Given the description of an element on the screen output the (x, y) to click on. 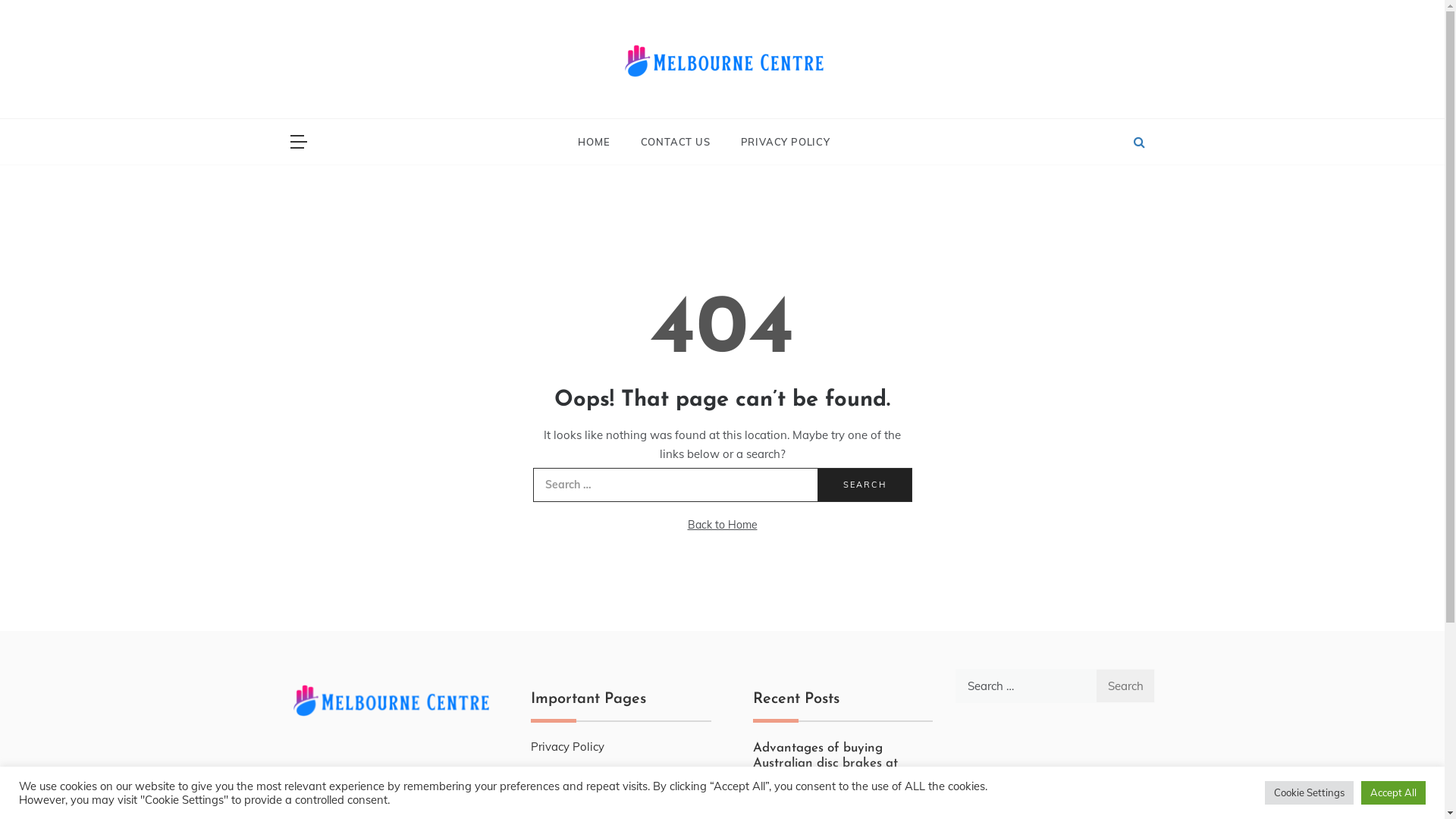
Accept All Element type: text (1393, 792)
Search Element type: text (864, 484)
PRIVACY POLICY Element type: text (776, 141)
Search Element type: text (1124, 685)
September 30, 2022 Element type: text (801, 795)
Back to Home Element type: text (721, 524)
Advantages of buying Australian disc brakes at VMAX Brakes Element type: text (824, 763)
Melbourne Centre Element type: text (608, 103)
Cookie Settings Element type: text (1308, 792)
Privacy Policy Element type: text (567, 746)
HOME Element type: text (600, 141)
CONTACT US Element type: text (674, 141)
